Given the description of an element on the screen output the (x, y) to click on. 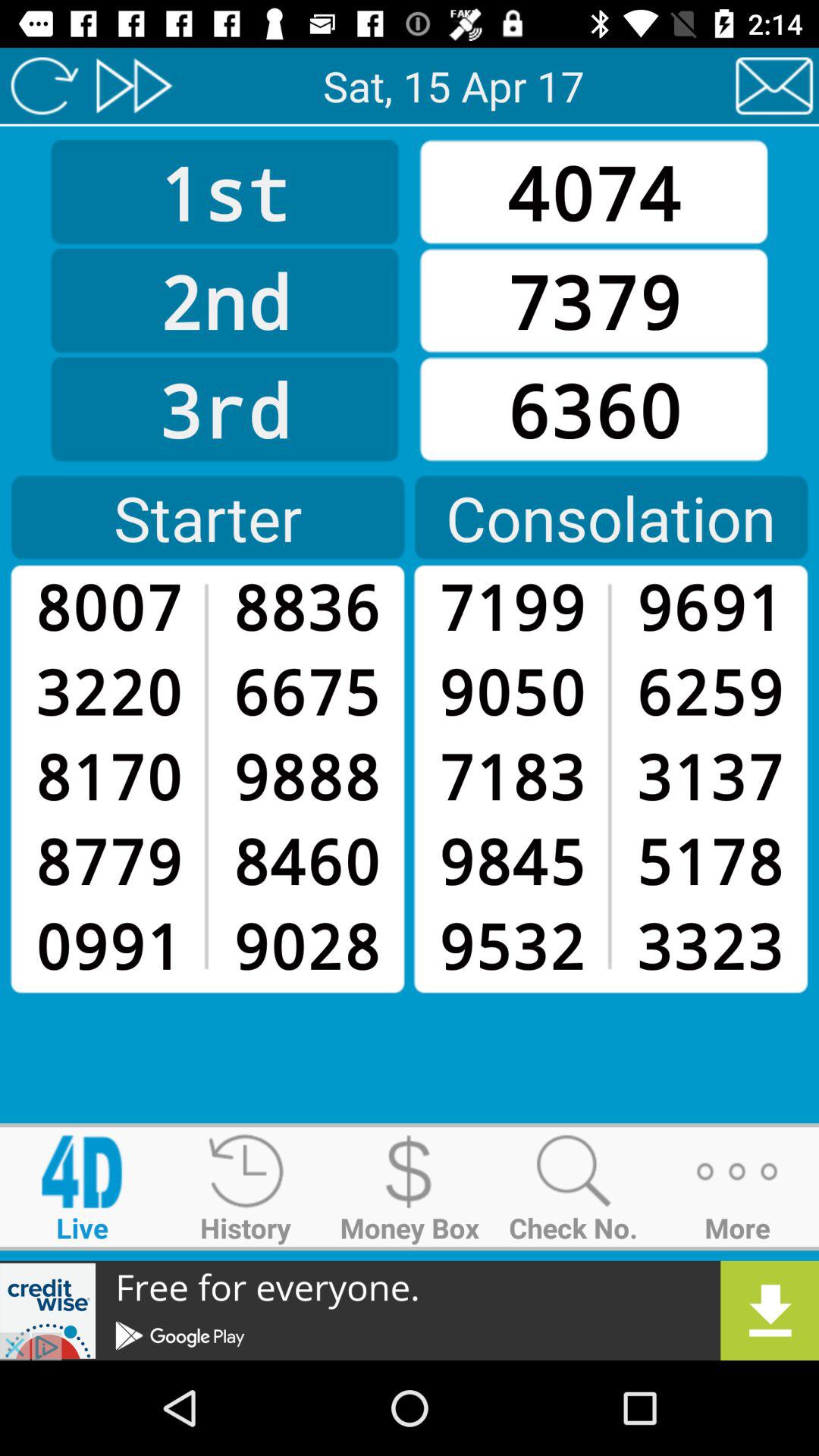
skip ahead (133, 85)
